Given the description of an element on the screen output the (x, y) to click on. 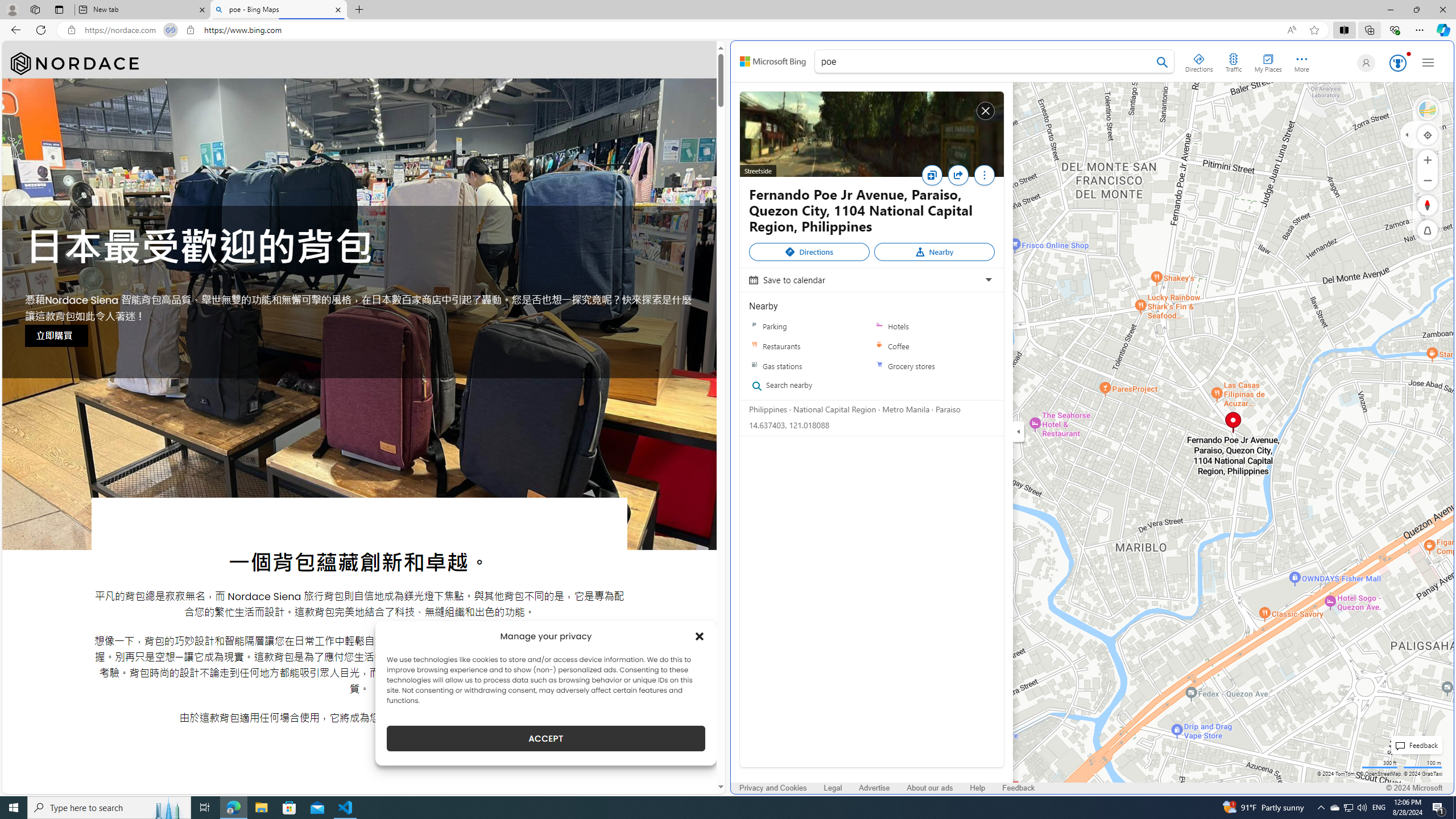
Save (931, 174)
Add a search (986, 60)
More (984, 174)
ACCEPT (545, 738)
About our ads (930, 787)
Directions (1199, 60)
Philippines (767, 408)
Gas stations (754, 365)
Class: cmplz-close (699, 636)
Zoom In (1427, 159)
Privacy and Cookies (772, 787)
Search nearby (804, 385)
Legal (833, 787)
